Given the description of an element on the screen output the (x, y) to click on. 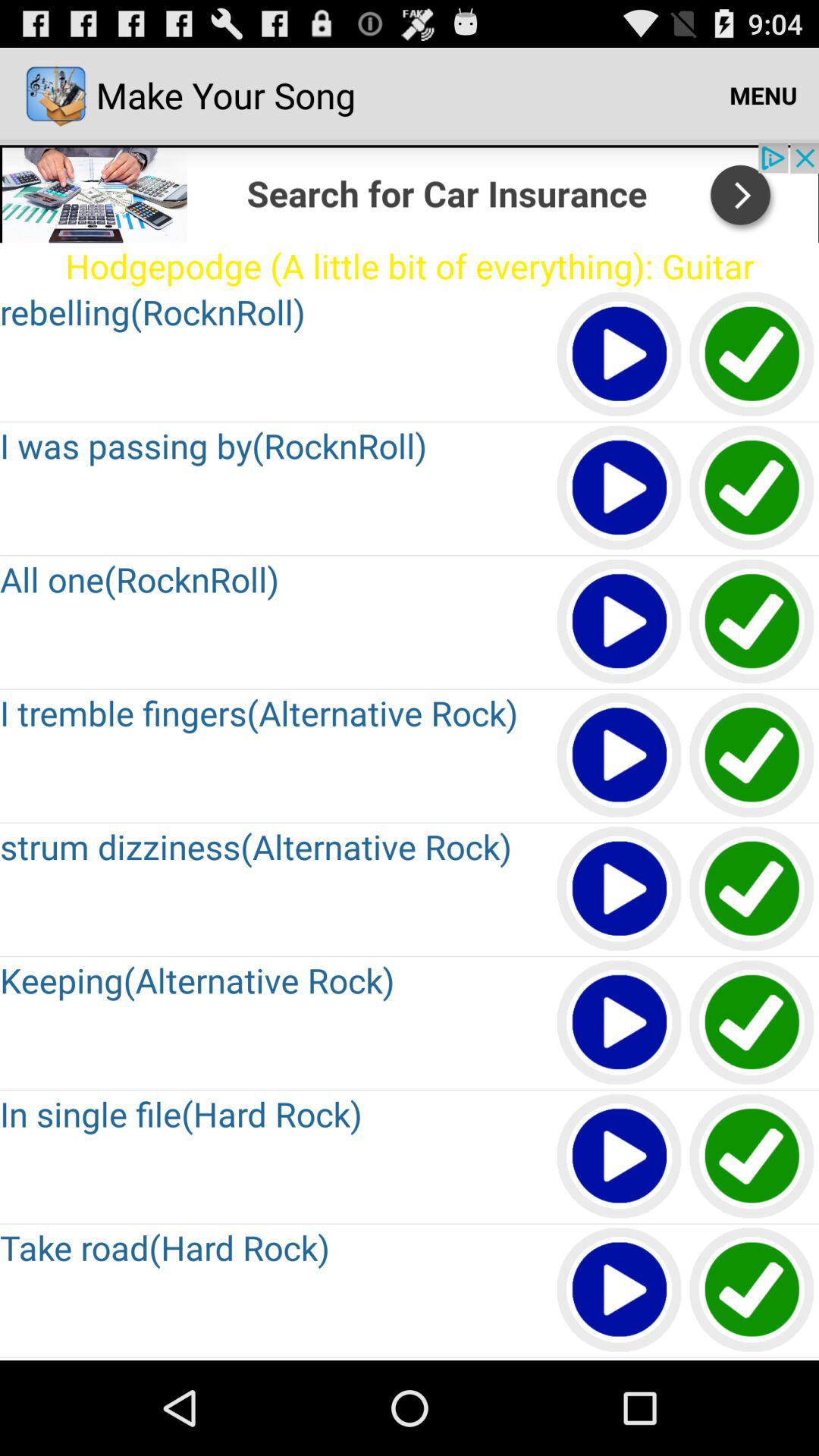
select button (752, 488)
